Given the description of an element on the screen output the (x, y) to click on. 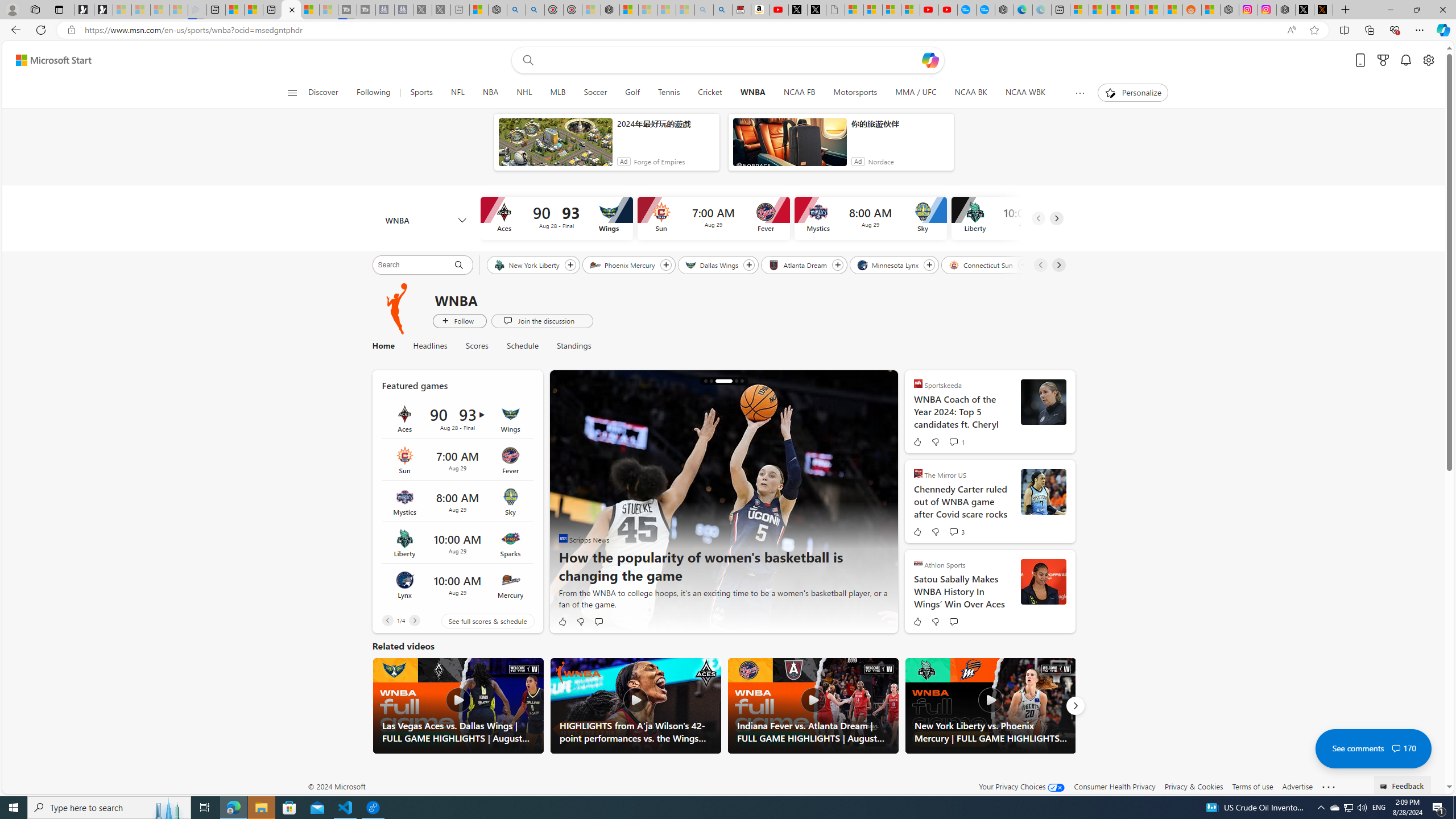
Skip to content (49, 59)
Class: around-the-league-card (456, 584)
anim-content (789, 146)
NCAA UConn Iowa Basketball</img (723, 501)
Day 1: Arriving in Yemen (surreal to be here) - YouTube (778, 9)
previous (565, 501)
WNBA (752, 92)
Home (382, 345)
